Given the description of an element on the screen output the (x, y) to click on. 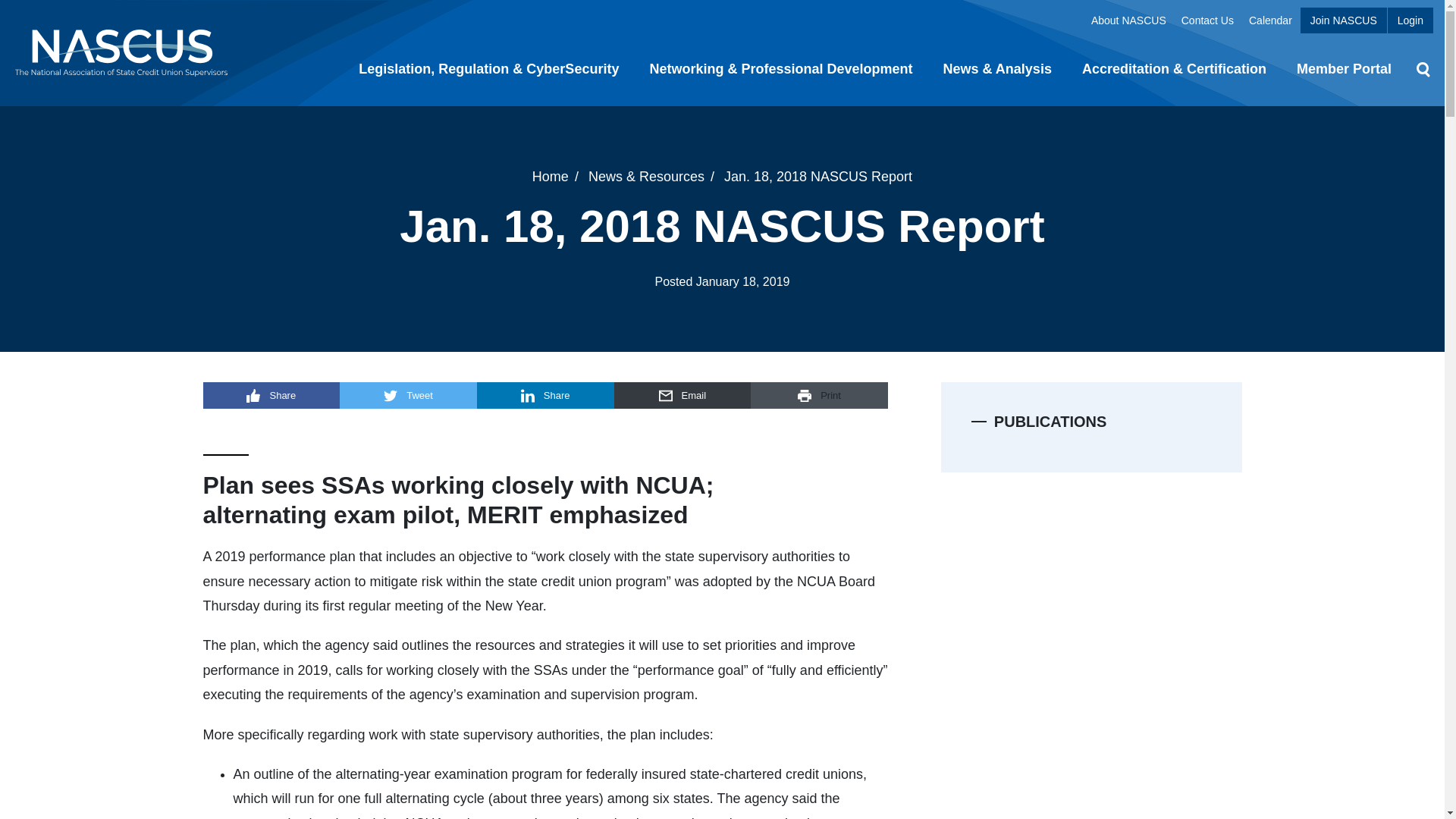
Join NASCUS (1343, 20)
About NASCUS (1128, 20)
Login (1409, 20)
Member Portal (1343, 69)
Home (550, 176)
Calendar (1270, 20)
Contact Us (1206, 20)
